Given the description of an element on the screen output the (x, y) to click on. 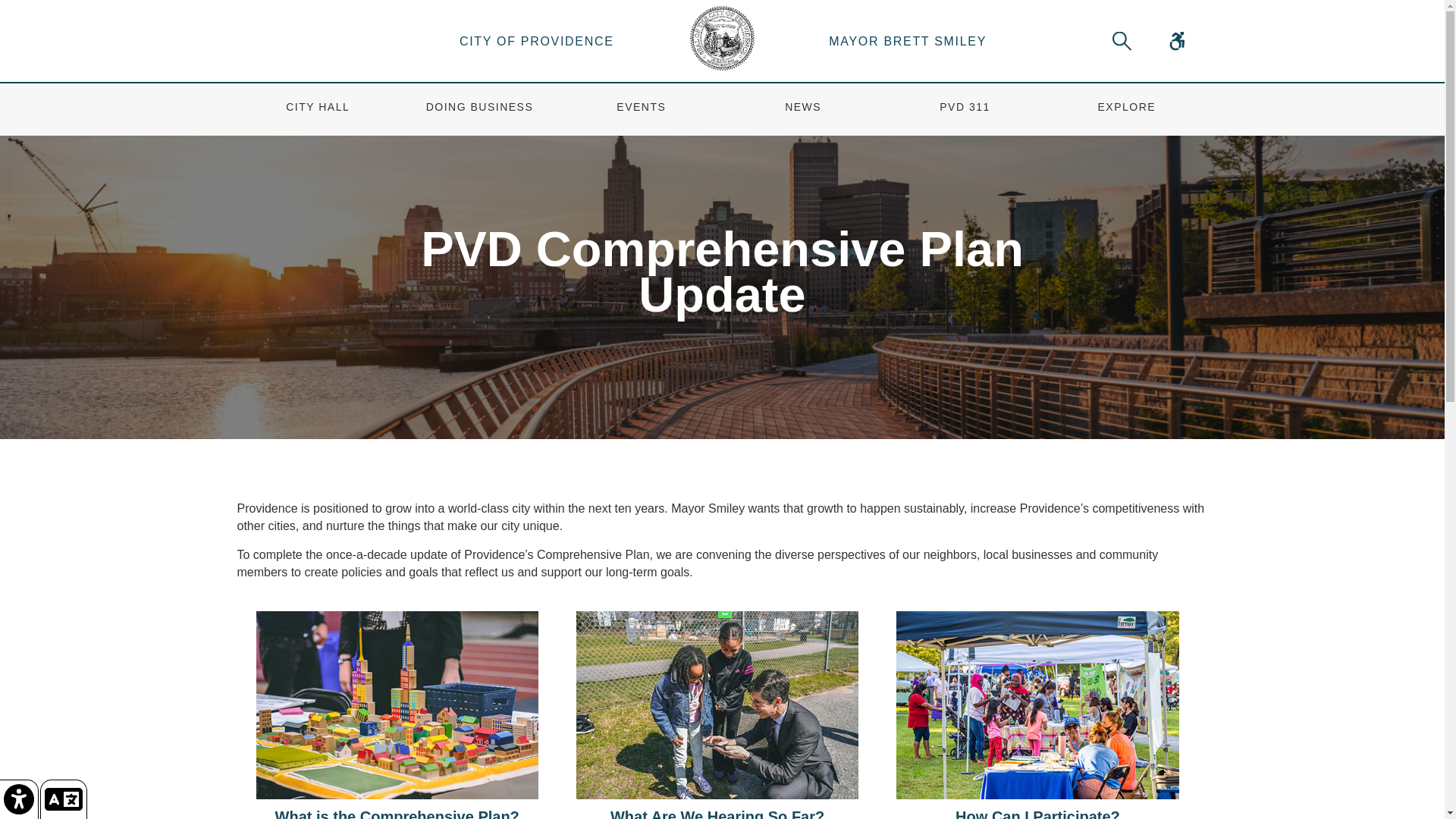
DOING BUSINESS (479, 109)
NEWS (802, 109)
CITY HALL (317, 109)
Show Accessibility options toolbar (19, 799)
EVENTS (641, 109)
EXPLORE (1126, 109)
CITY OF PROVIDENCE (536, 41)
MAYOR BRETT SMILEY (908, 41)
Show Language options toolbar (63, 799)
PVD 311 (964, 109)
